Given the description of an element on the screen output the (x, y) to click on. 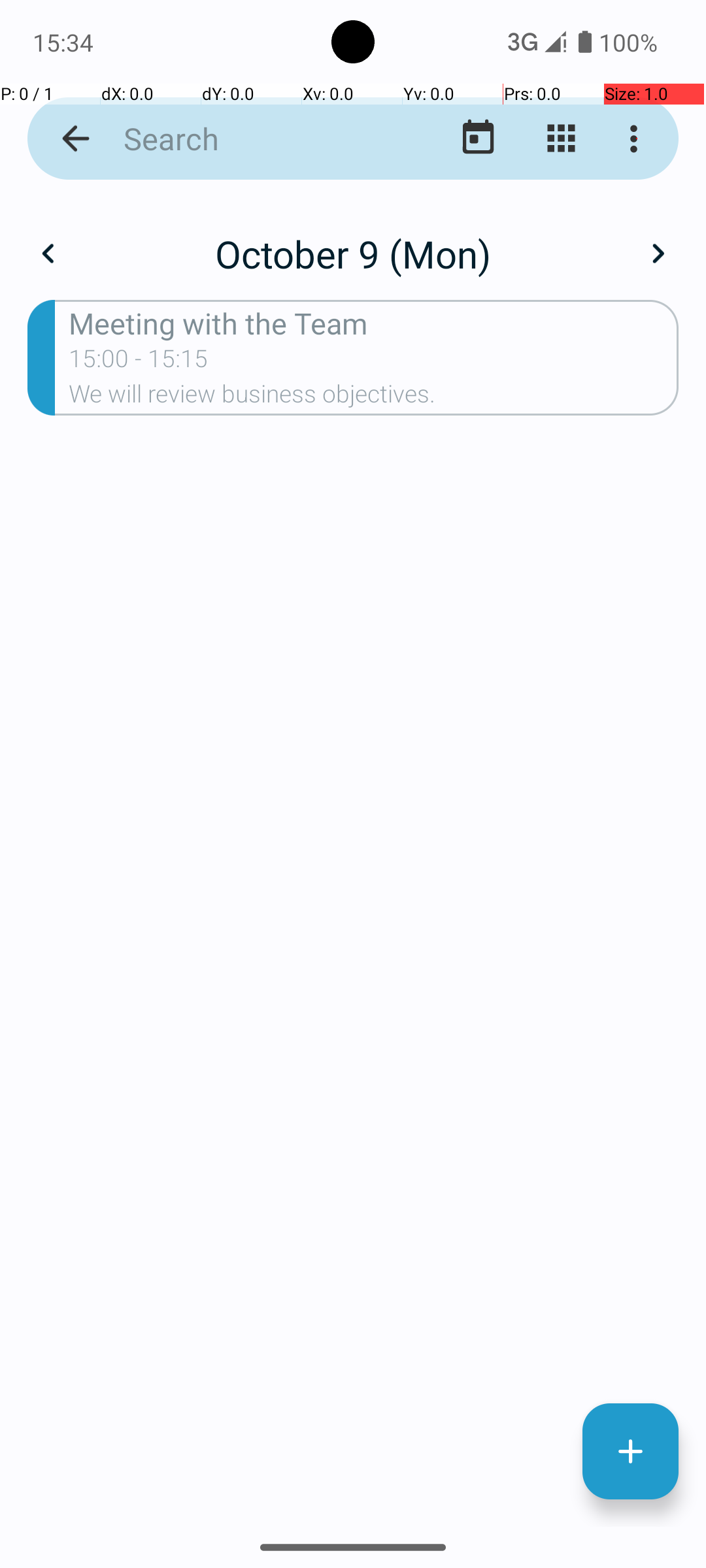
October 9 (Mon) Element type: android.widget.TextView (352, 253)
Meeting with the Team Element type: android.widget.TextView (373, 321)
15:00 - 15:15 Element type: android.widget.TextView (137, 362)
We will review business objectives. Element type: android.widget.TextView (373, 397)
